Given the description of an element on the screen output the (x, y) to click on. 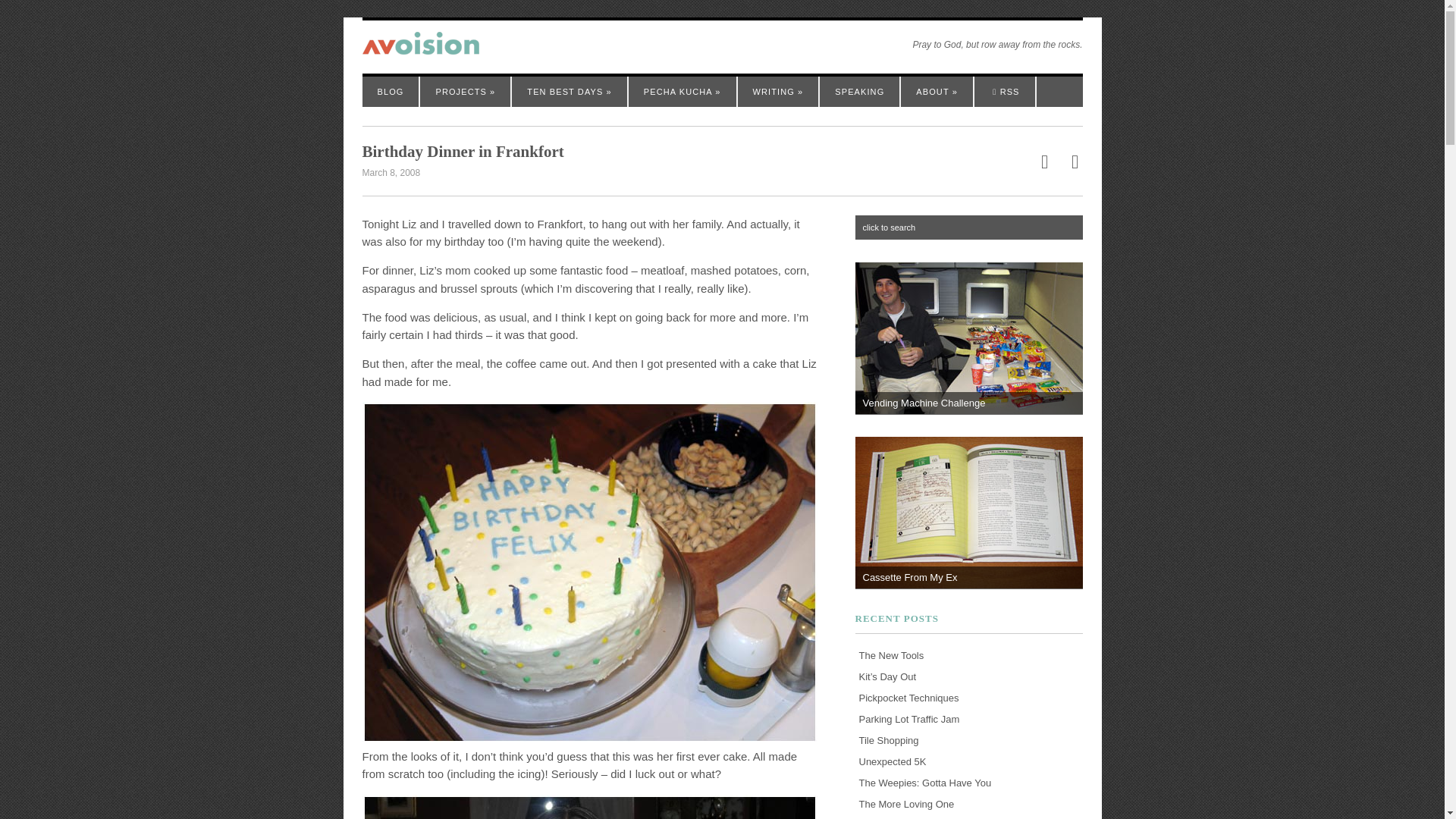
BLOG (390, 91)
click to search (969, 227)
